Given the description of an element on the screen output the (x, y) to click on. 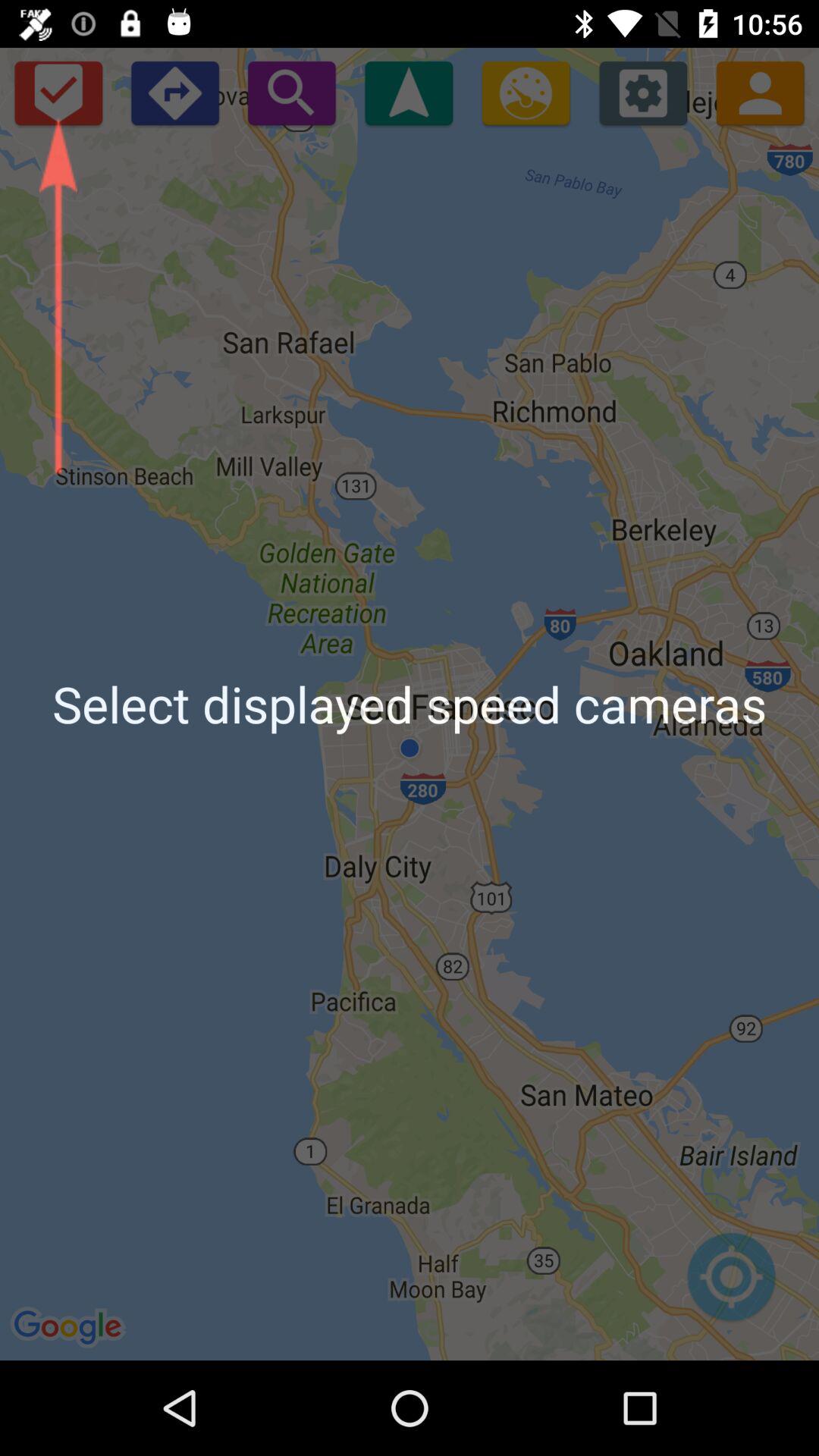
direction button (174, 92)
